Given the description of an element on the screen output the (x, y) to click on. 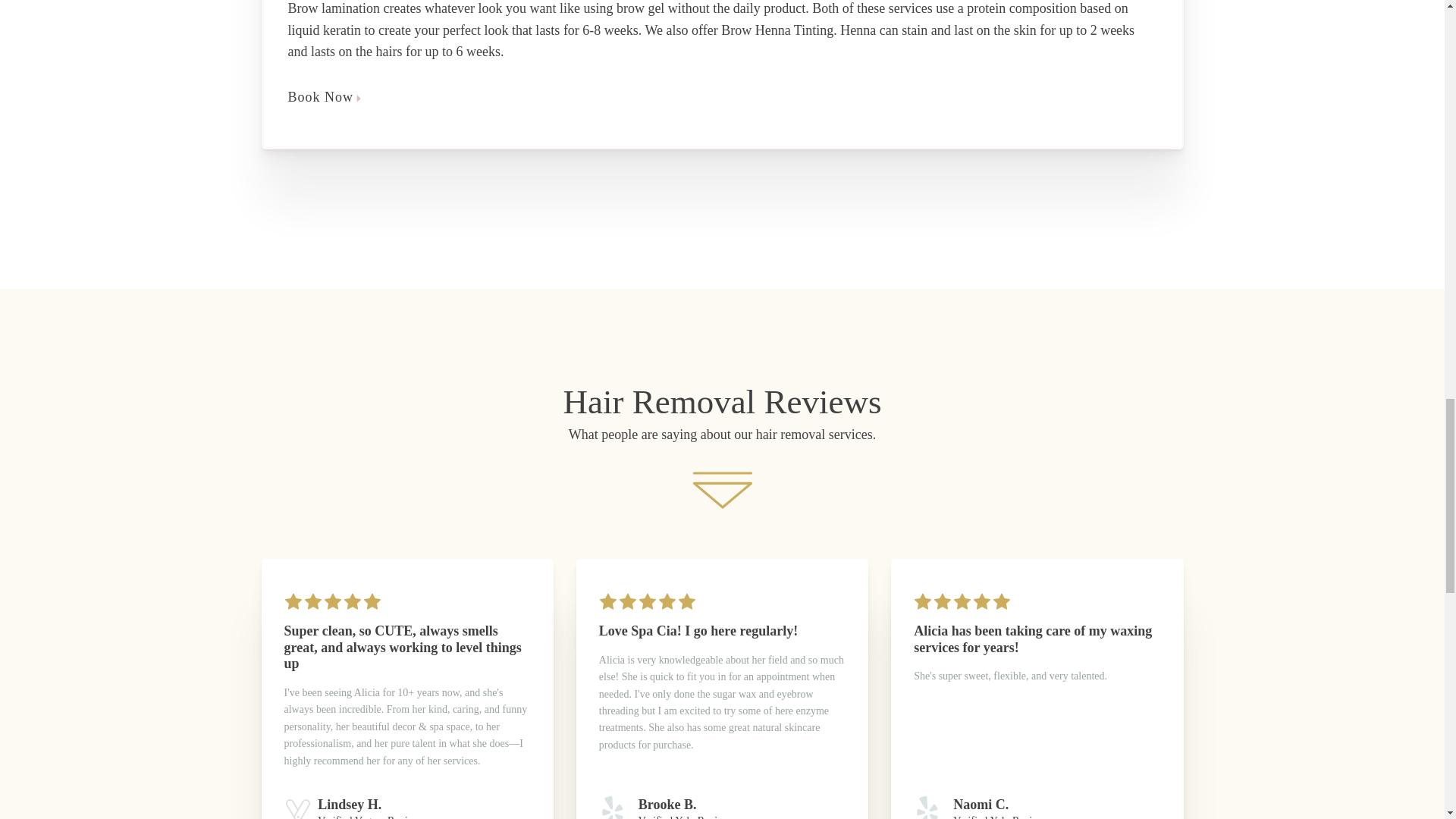
Book Now (722, 96)
